Given the description of an element on the screen output the (x, y) to click on. 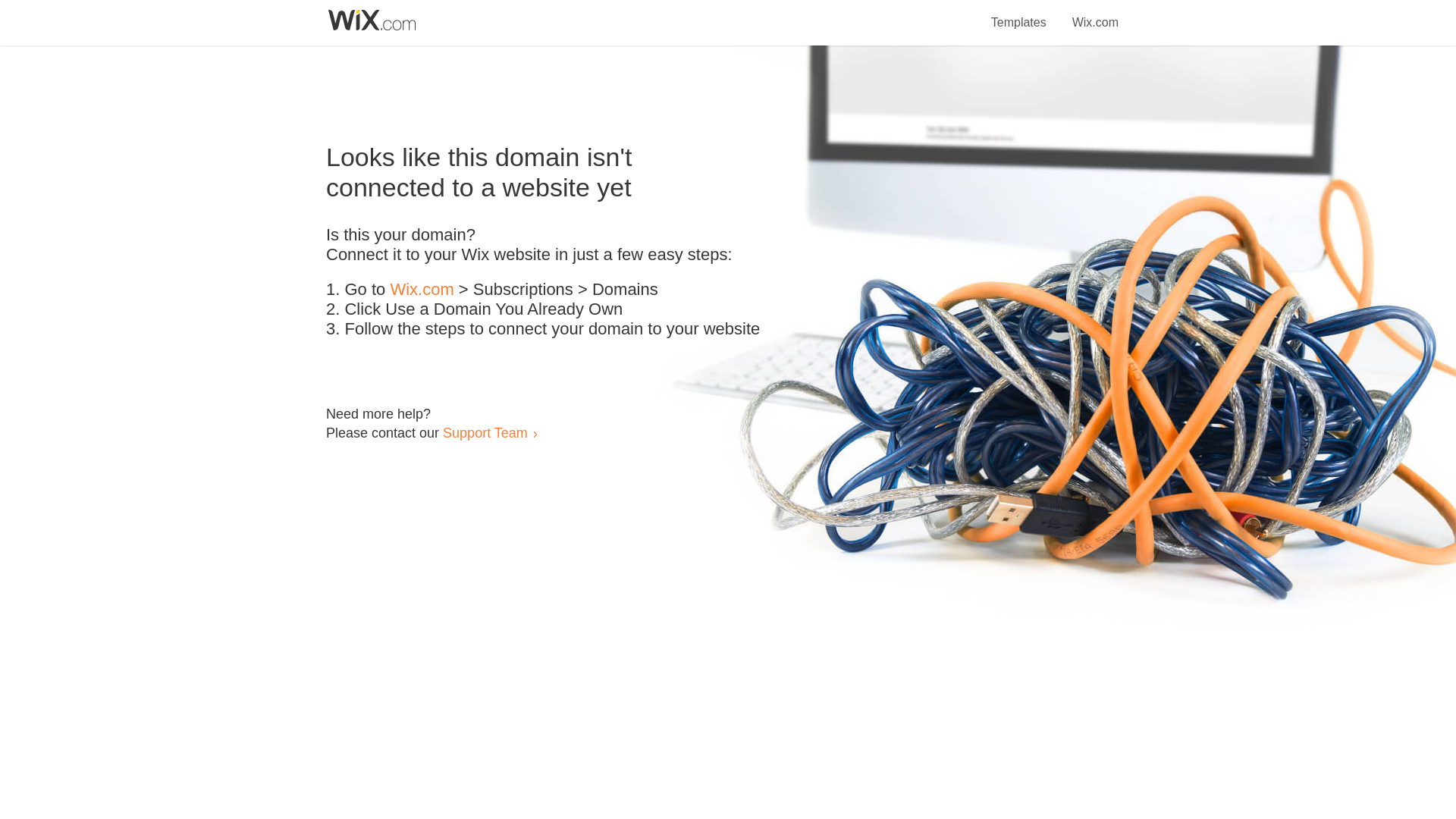
Wix.com (1095, 14)
Support Team (484, 432)
Templates (1018, 14)
Wix.com (421, 289)
